Given the description of an element on the screen output the (x, y) to click on. 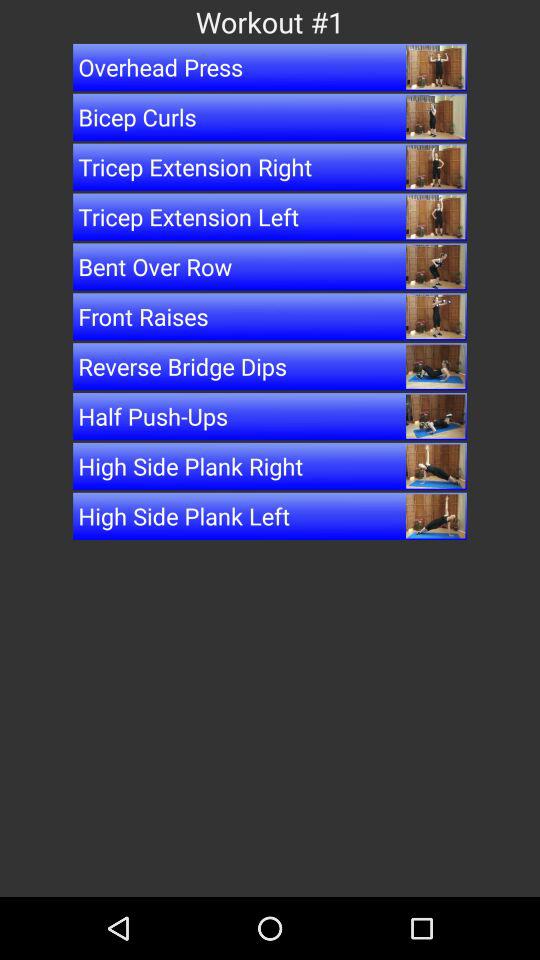
click button above the reverse bridge dips icon (269, 316)
